Given the description of an element on the screen output the (x, y) to click on. 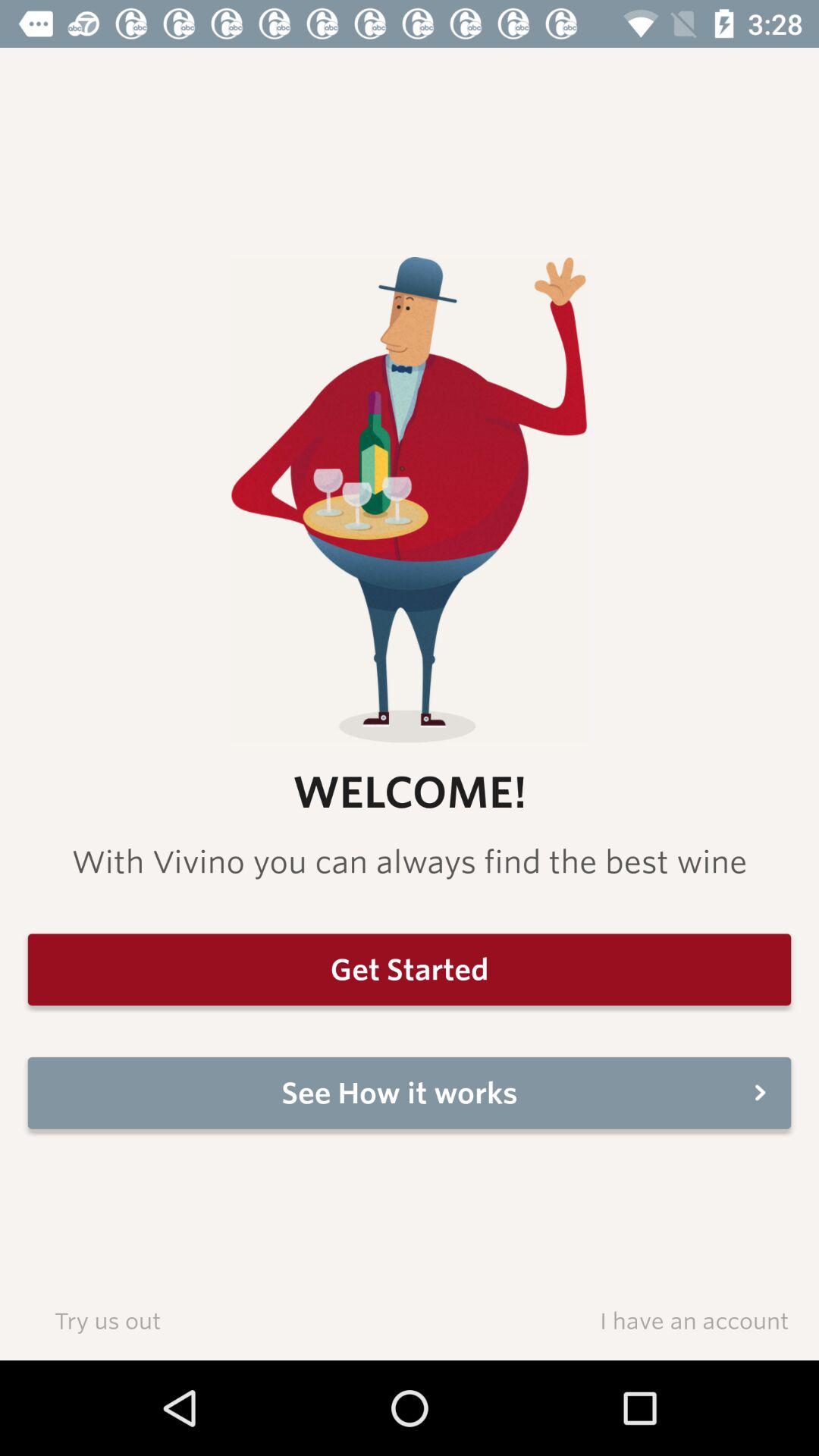
scroll to the see how it (409, 1092)
